Given the description of an element on the screen output the (x, y) to click on. 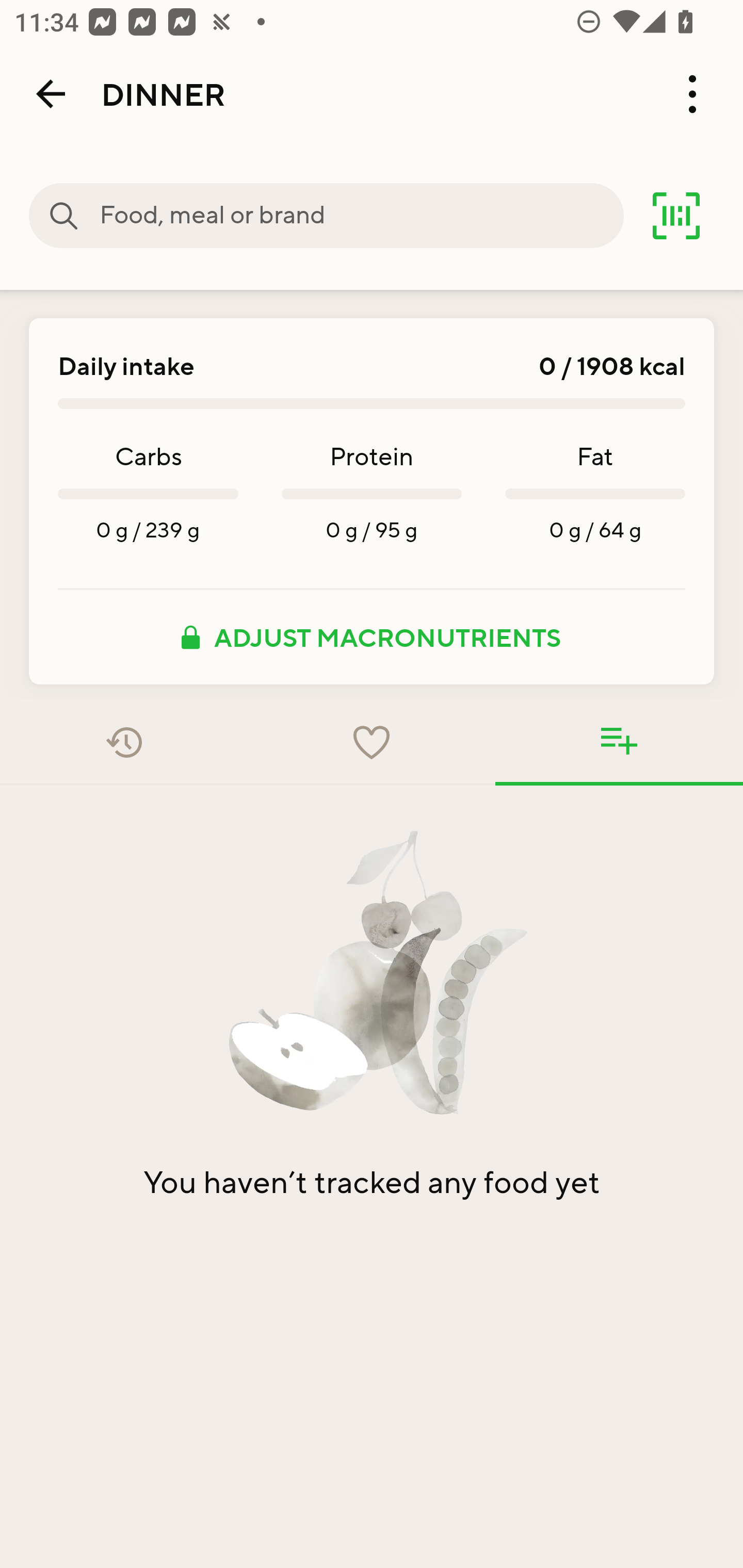
Back (50, 93)
Food, meal or brand (63, 215)
Food, meal or brand (361, 215)
ADJUST MACRONUTRIENTS (371, 637)
Recent (123, 742)
Favorites (371, 742)
